Given the description of an element on the screen output the (x, y) to click on. 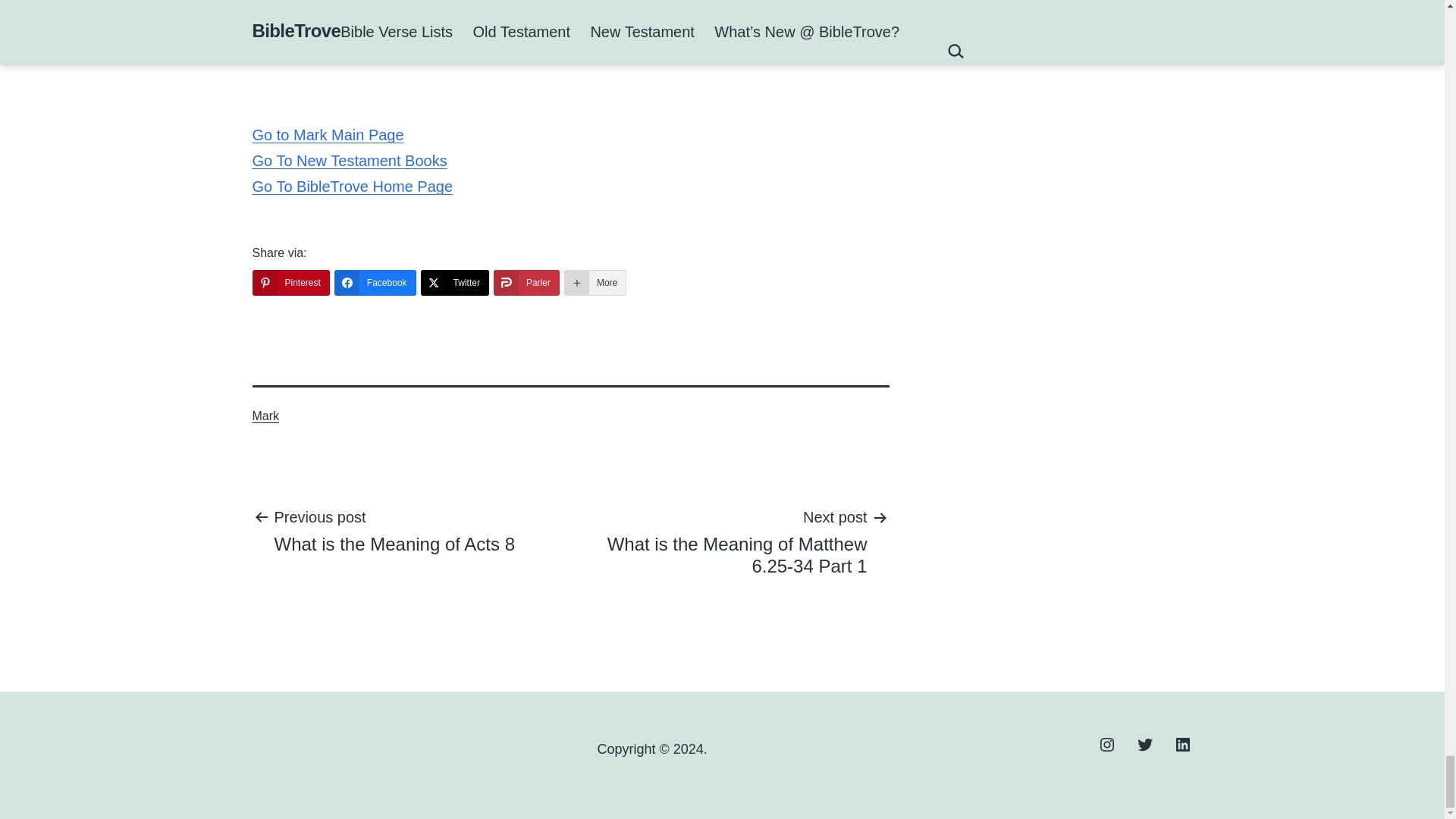
Pinterest (290, 282)
Twitter (454, 282)
Go to Mark Main Page (327, 134)
LinkedIn (1182, 742)
Go To BibleTrove Home Page (351, 186)
Twitter (1144, 742)
More (595, 282)
Mark (265, 415)
Parler (526, 282)
Instagram (1106, 742)
